Given the description of an element on the screen output the (x, y) to click on. 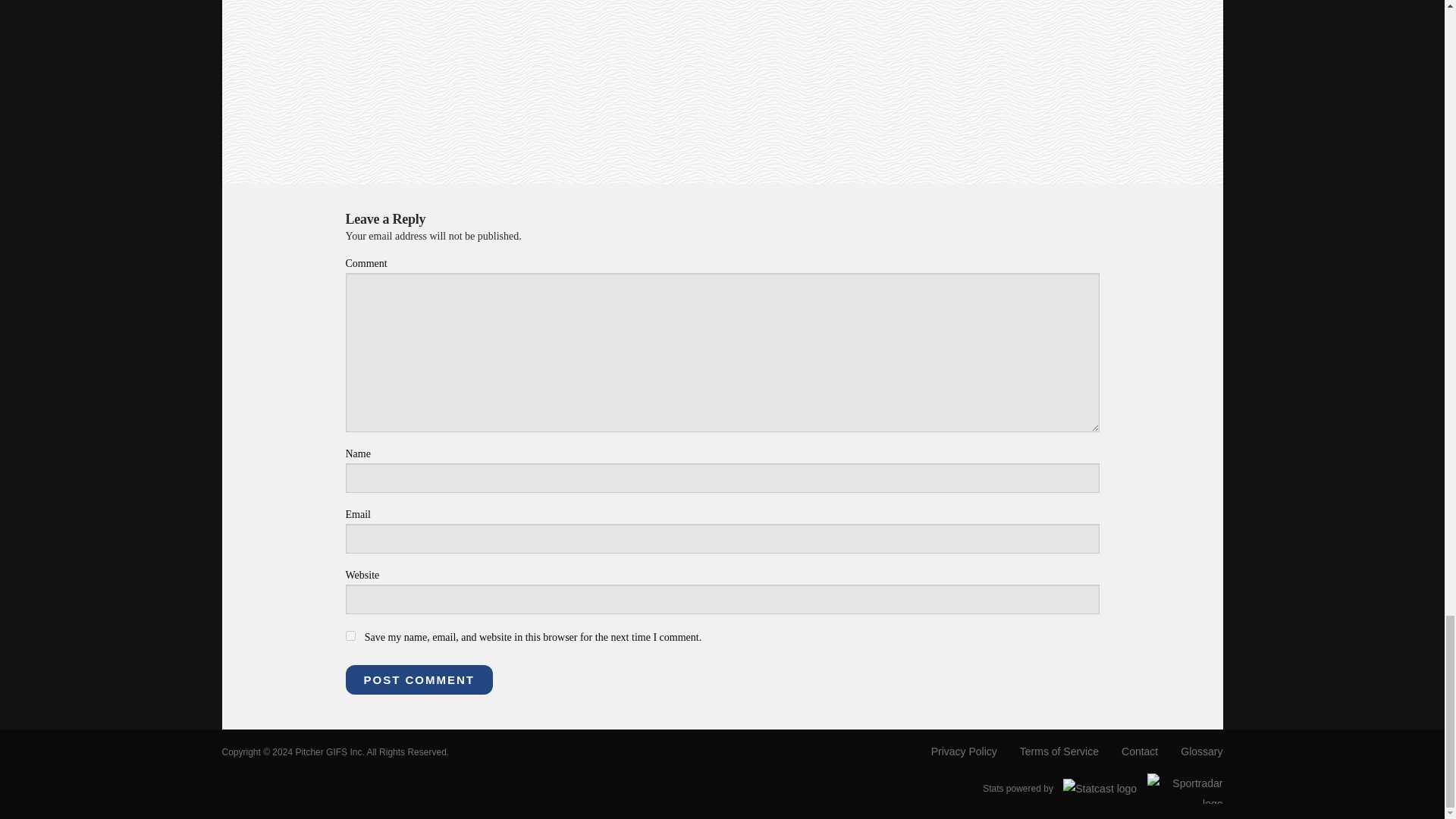
Post Comment (419, 679)
yes (350, 635)
